Given the description of an element on the screen output the (x, y) to click on. 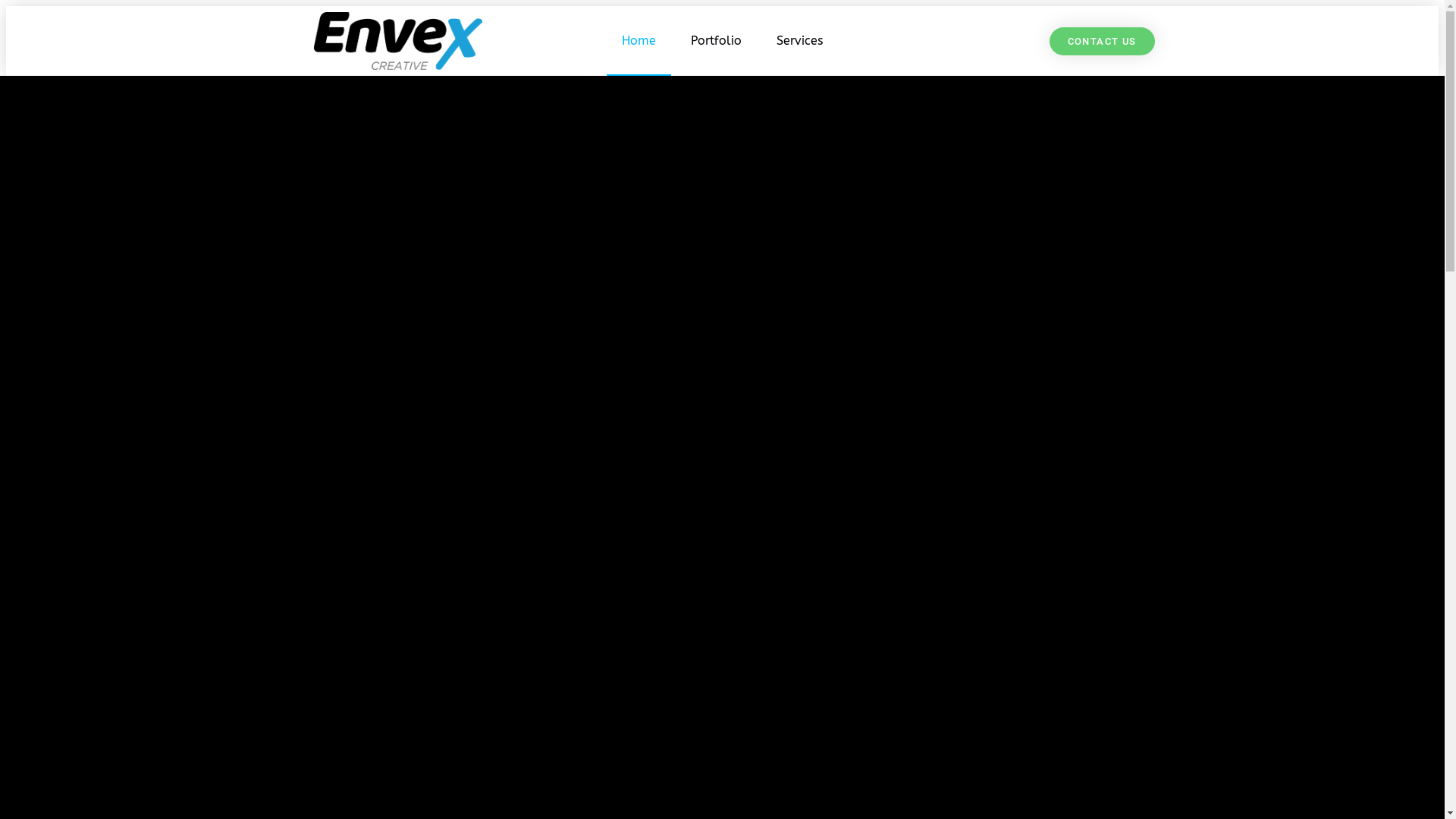
Portfolio Element type: text (715, 40)
Home Element type: text (638, 40)
CONTACT US Element type: text (1101, 41)
Services Element type: text (799, 40)
